Given the description of an element on the screen output the (x, y) to click on. 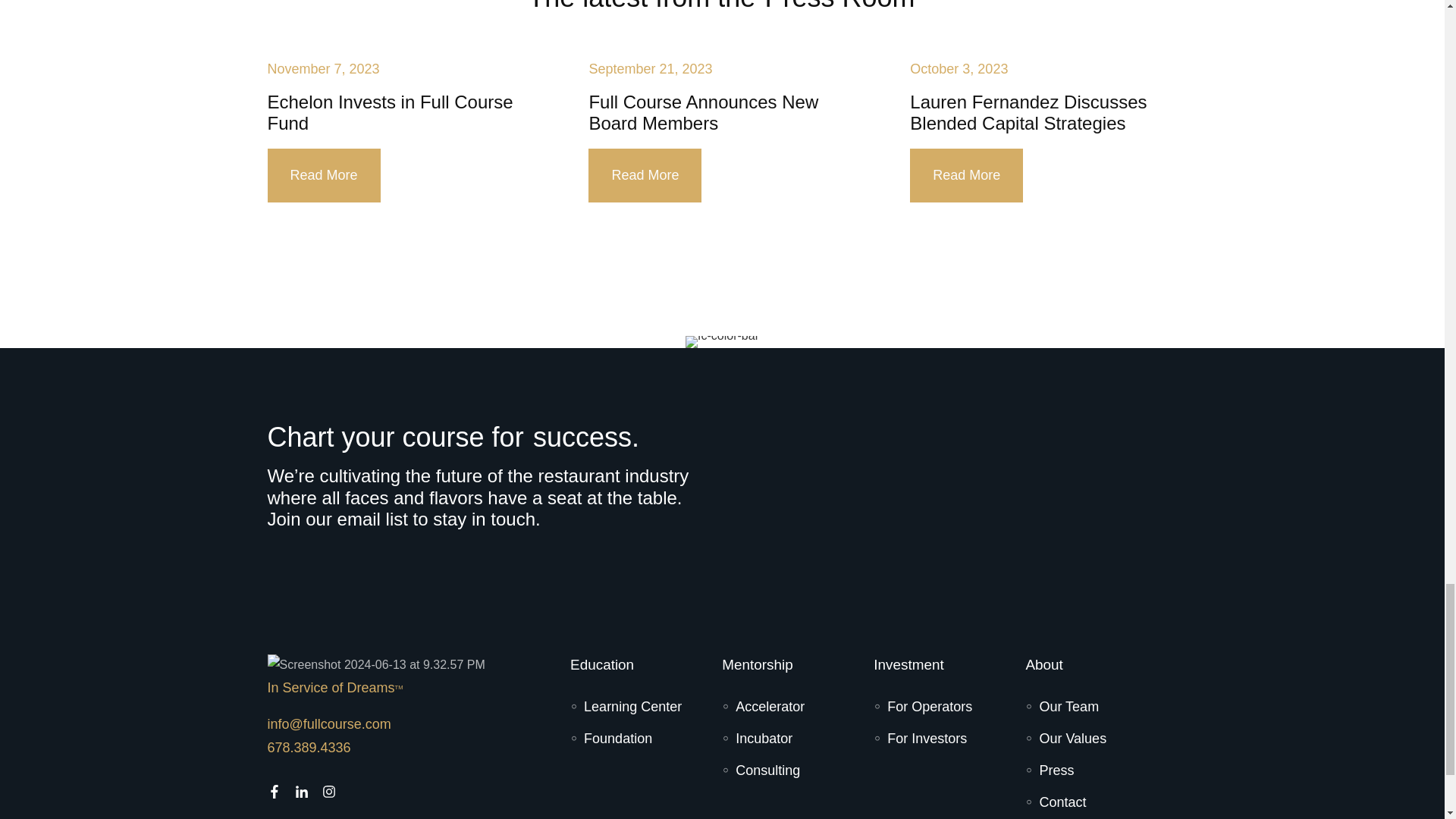
Follow us on Facebook (273, 791)
Follow us on Twitter (327, 791)
Follow us on LinkedIn (300, 791)
fc-color-bar (721, 341)
